Given the description of an element on the screen output the (x, y) to click on. 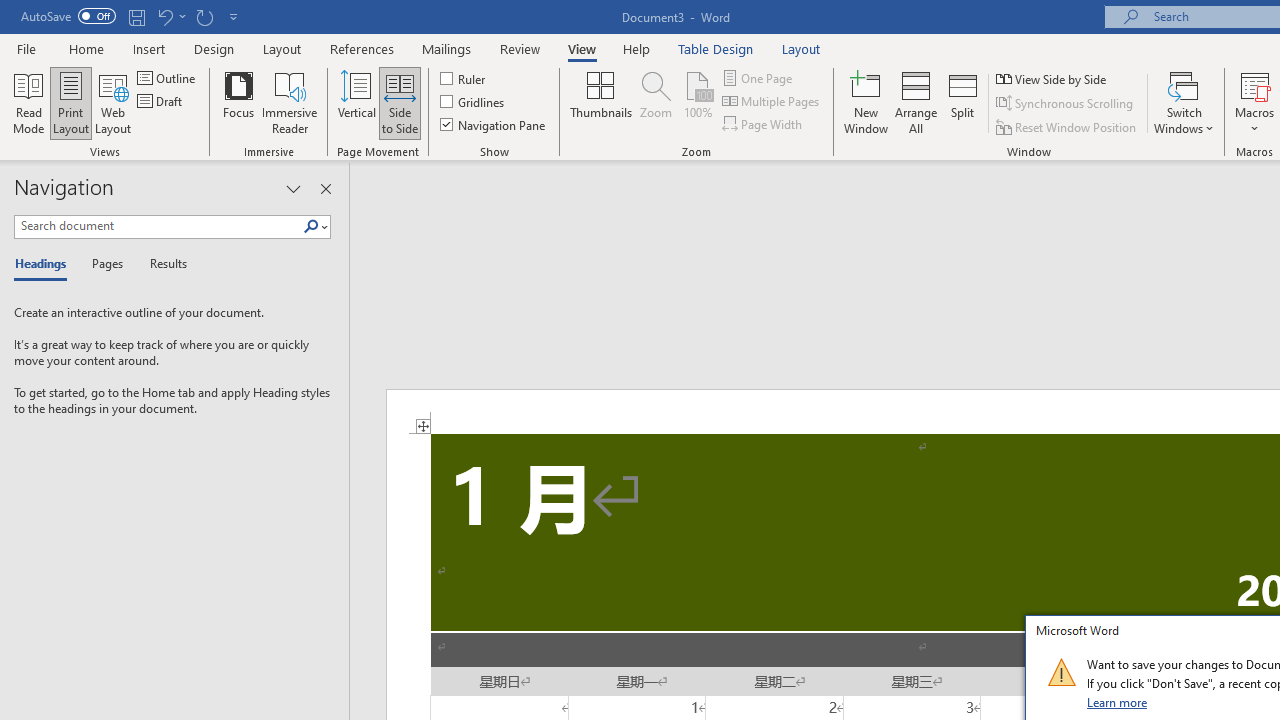
Macros (1254, 102)
Immersive Reader (289, 102)
New Window (866, 102)
Thumbnails (601, 102)
Side to Side (399, 102)
One Page (758, 78)
